Given the description of an element on the screen output the (x, y) to click on. 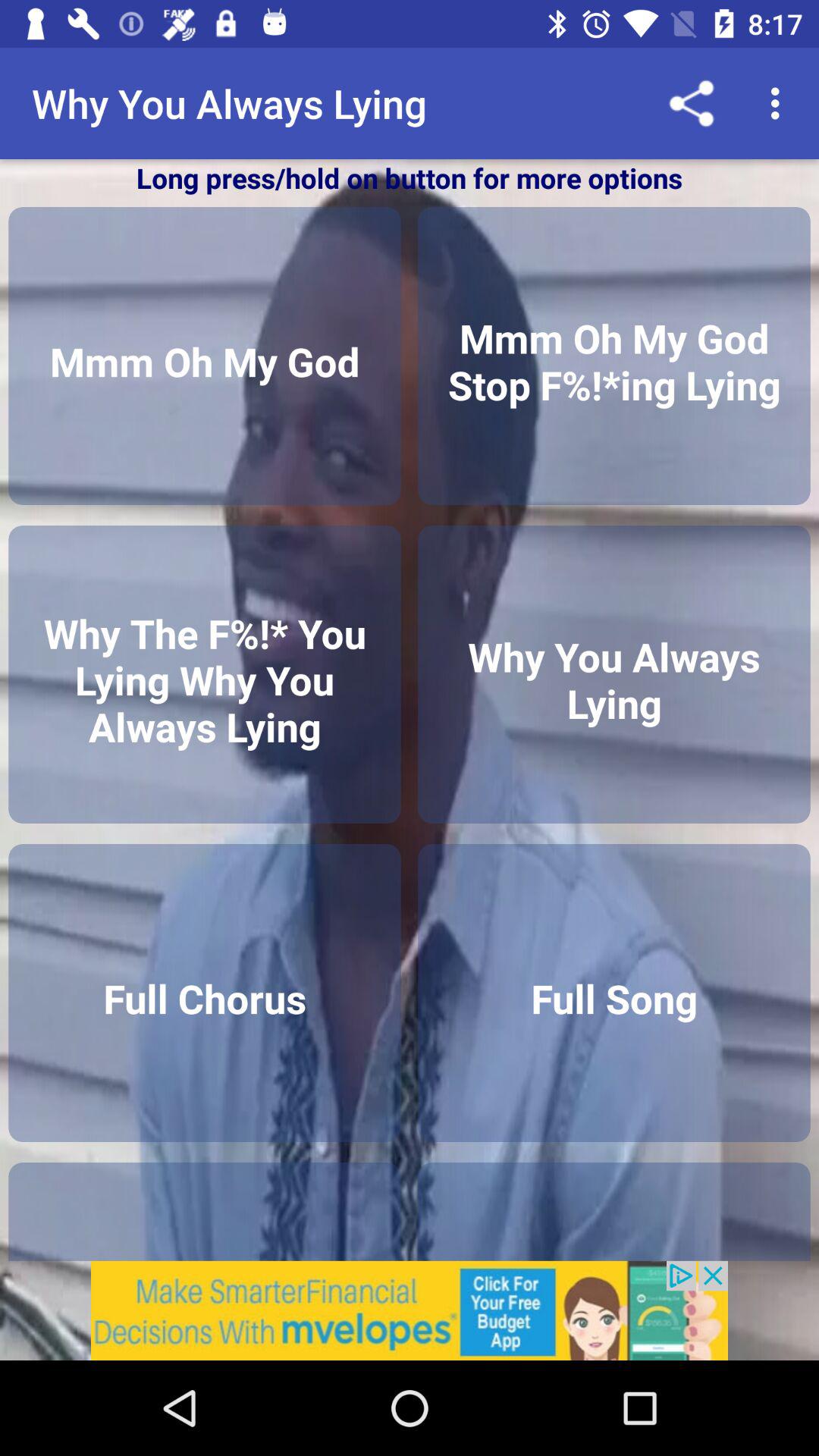
open advertisement panel (409, 1310)
